Given the description of an element on the screen output the (x, y) to click on. 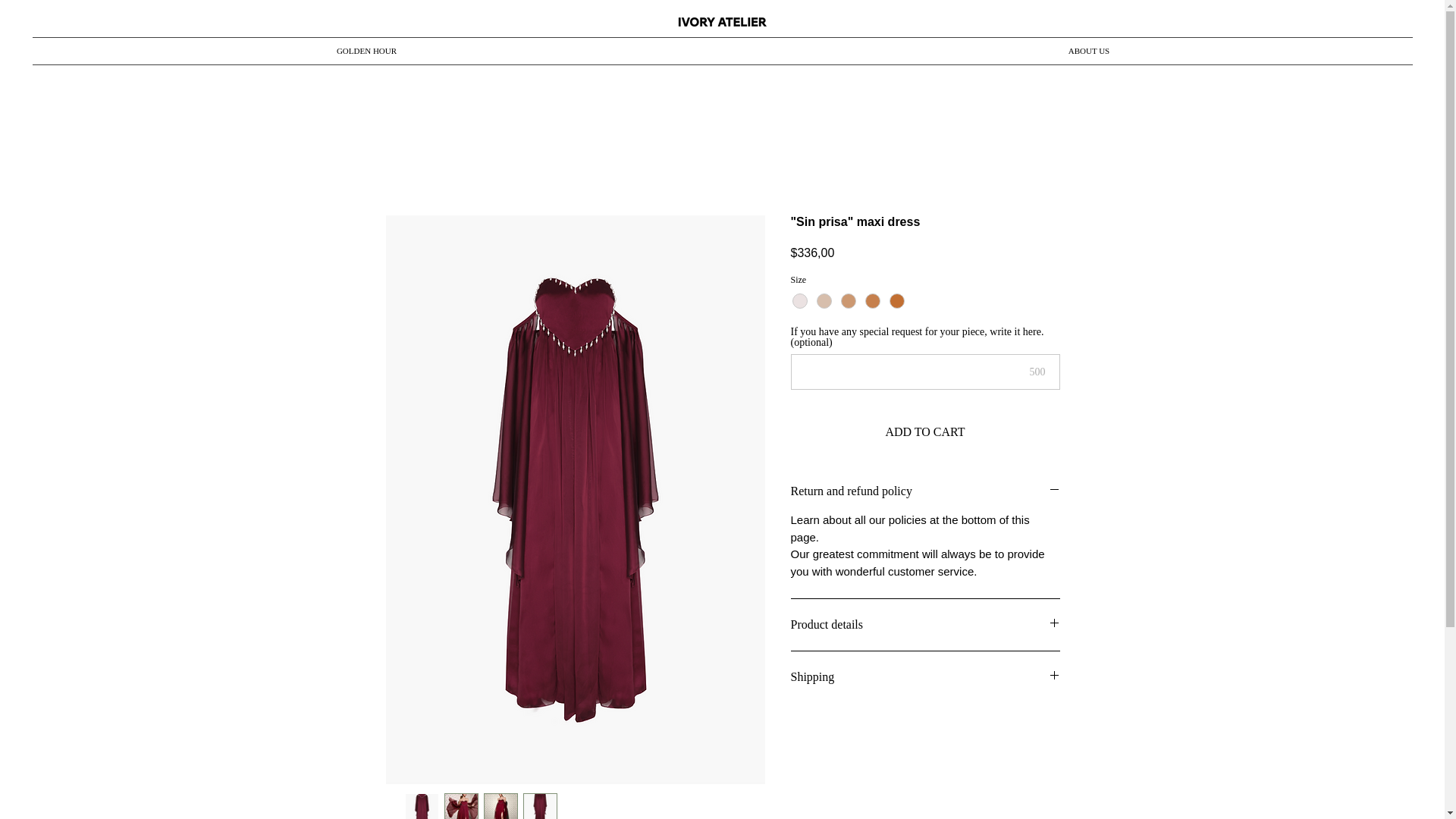
ADD TO CART (924, 431)
Return and refund policy (924, 491)
Shipping (924, 676)
Product details (924, 624)
GOLDEN HOUR (366, 51)
